Given the description of an element on the screen output the (x, y) to click on. 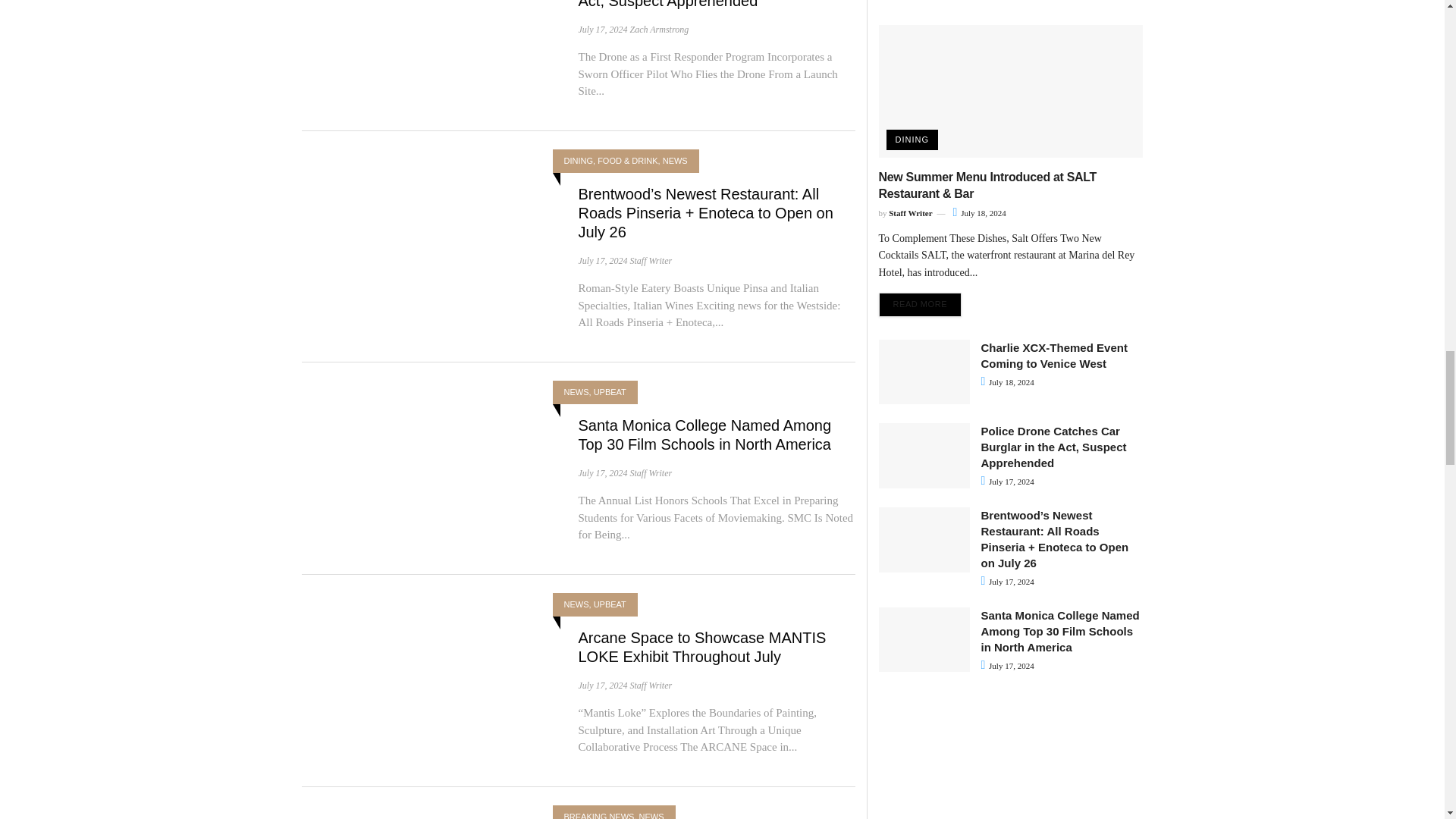
Posts by Zach Armstrong (658, 29)
Posts by Staff Writer (649, 260)
